Given the description of an element on the screen output the (x, y) to click on. 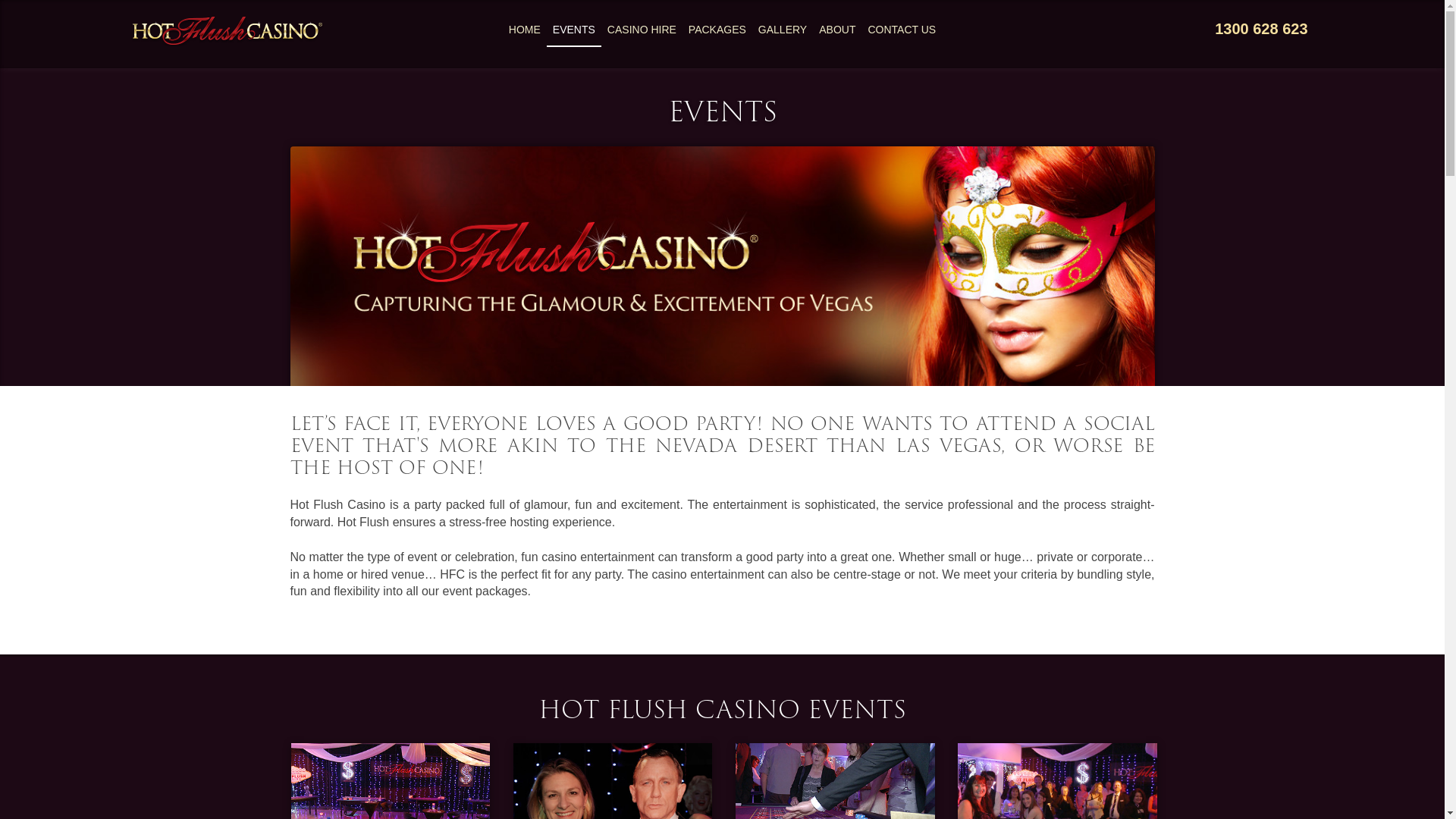
ABOUT Element type: text (836, 30)
CONTACT US Element type: text (901, 30)
HOME Element type: text (524, 30)
 1300 628 623 Element type: text (1259, 28)
PACKAGES Element type: text (717, 30)
GALLERY Element type: text (782, 30)
EVENTS Element type: text (573, 30)
CASINO HIRE Element type: text (641, 30)
